Given the description of an element on the screen output the (x, y) to click on. 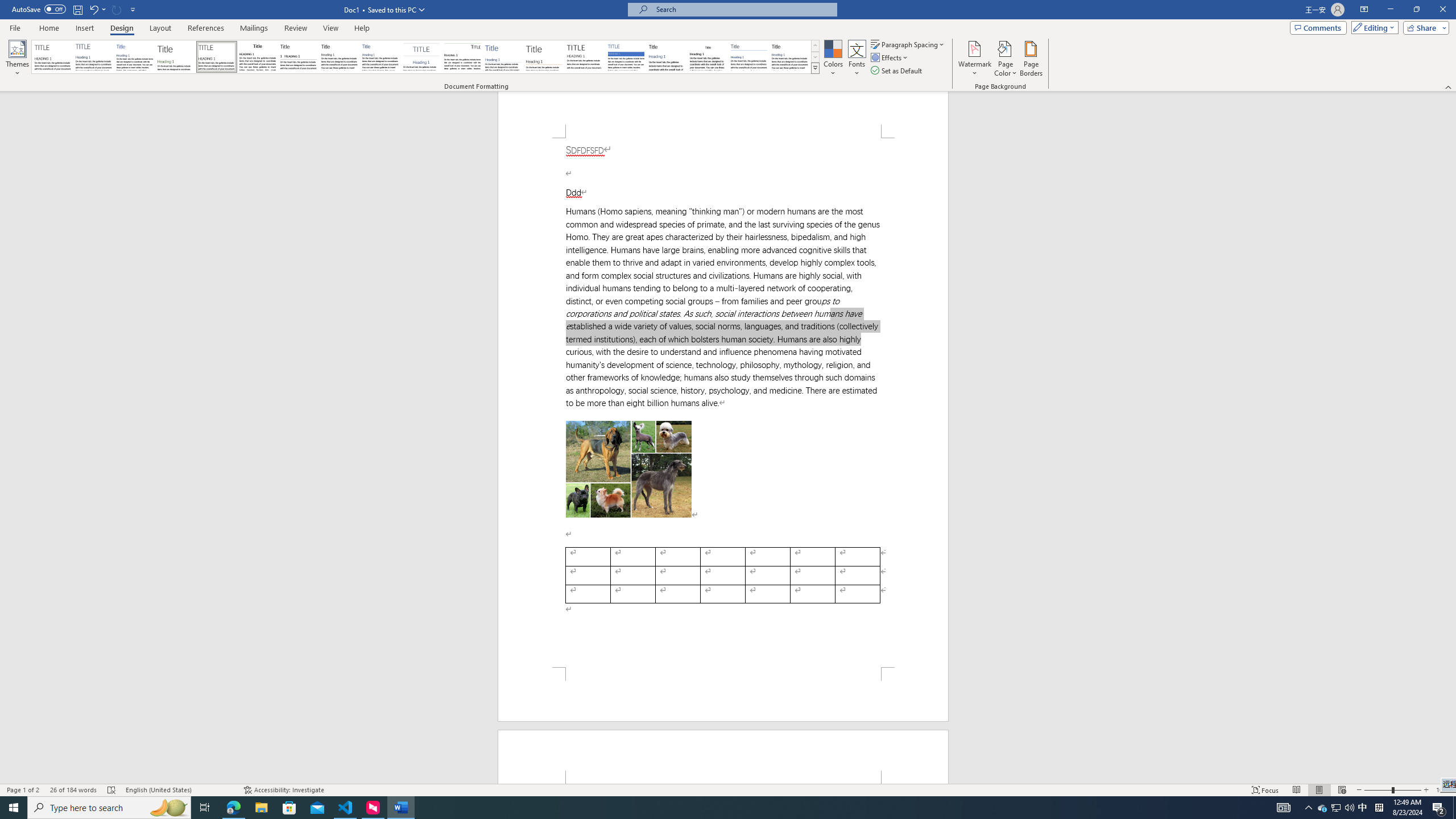
Morphological variation in six dogs (628, 468)
Basic (Simple) (135, 56)
Fonts (856, 58)
